Given the description of an element on the screen output the (x, y) to click on. 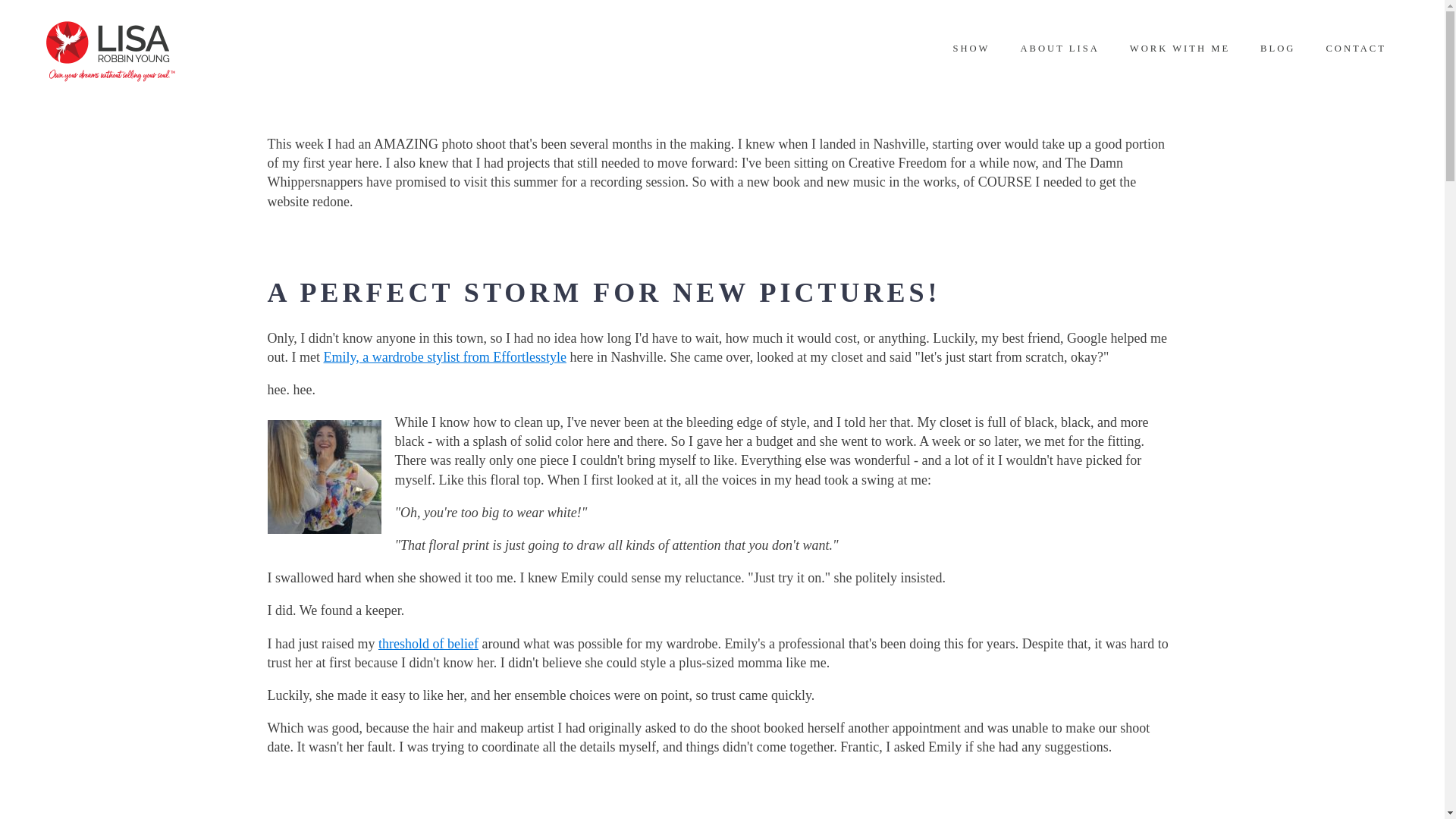
BLOG (1277, 49)
WORK WITH ME (1179, 49)
Emily, a wardrobe stylist from Effortlesstyle (444, 356)
ABOUT LISA (1058, 49)
CONTACT (1355, 49)
SHOW (970, 49)
threshold of belief (428, 643)
